Given the description of an element on the screen output the (x, y) to click on. 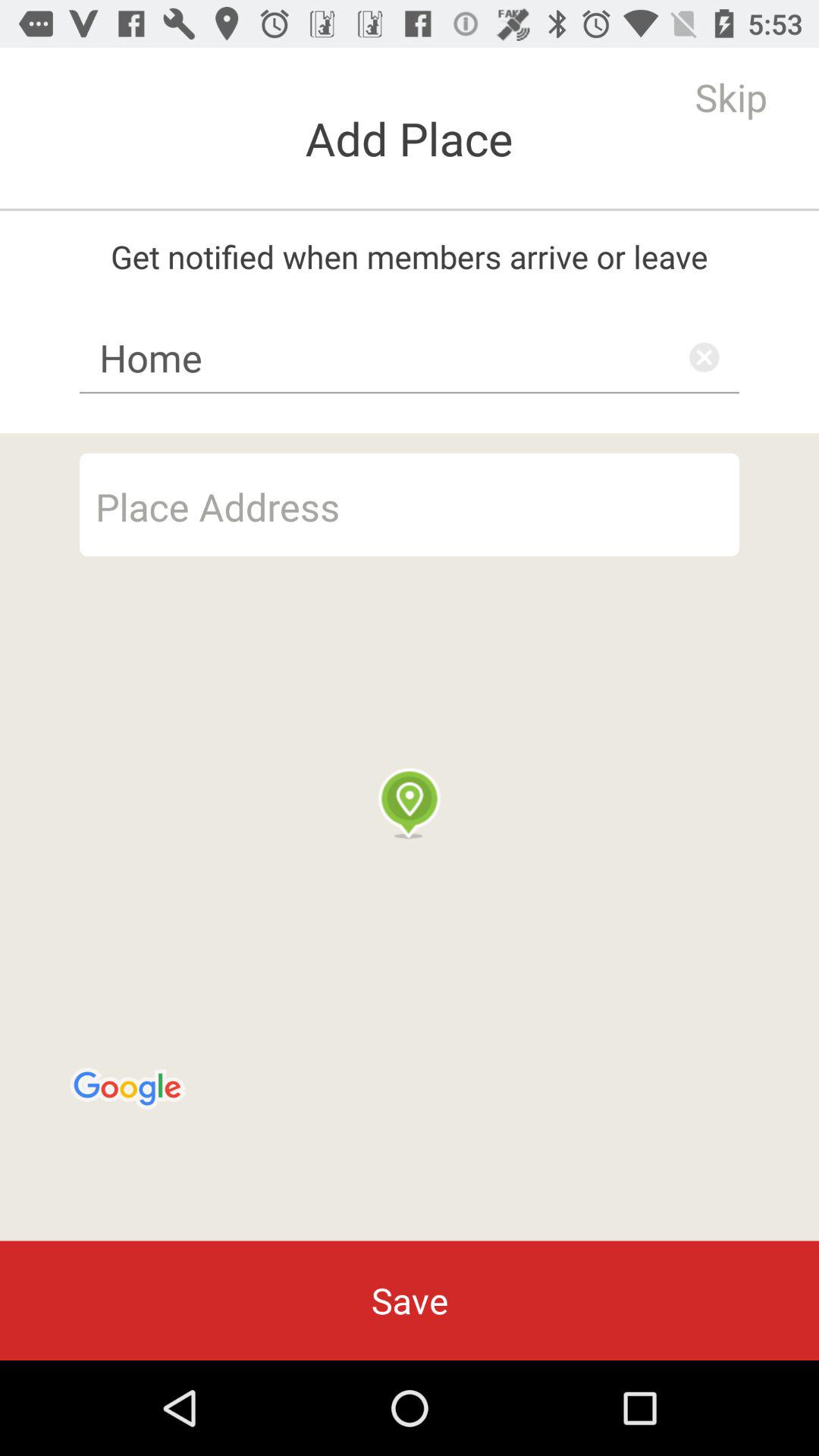
select the item below get notified when item (409, 357)
